Given the description of an element on the screen output the (x, y) to click on. 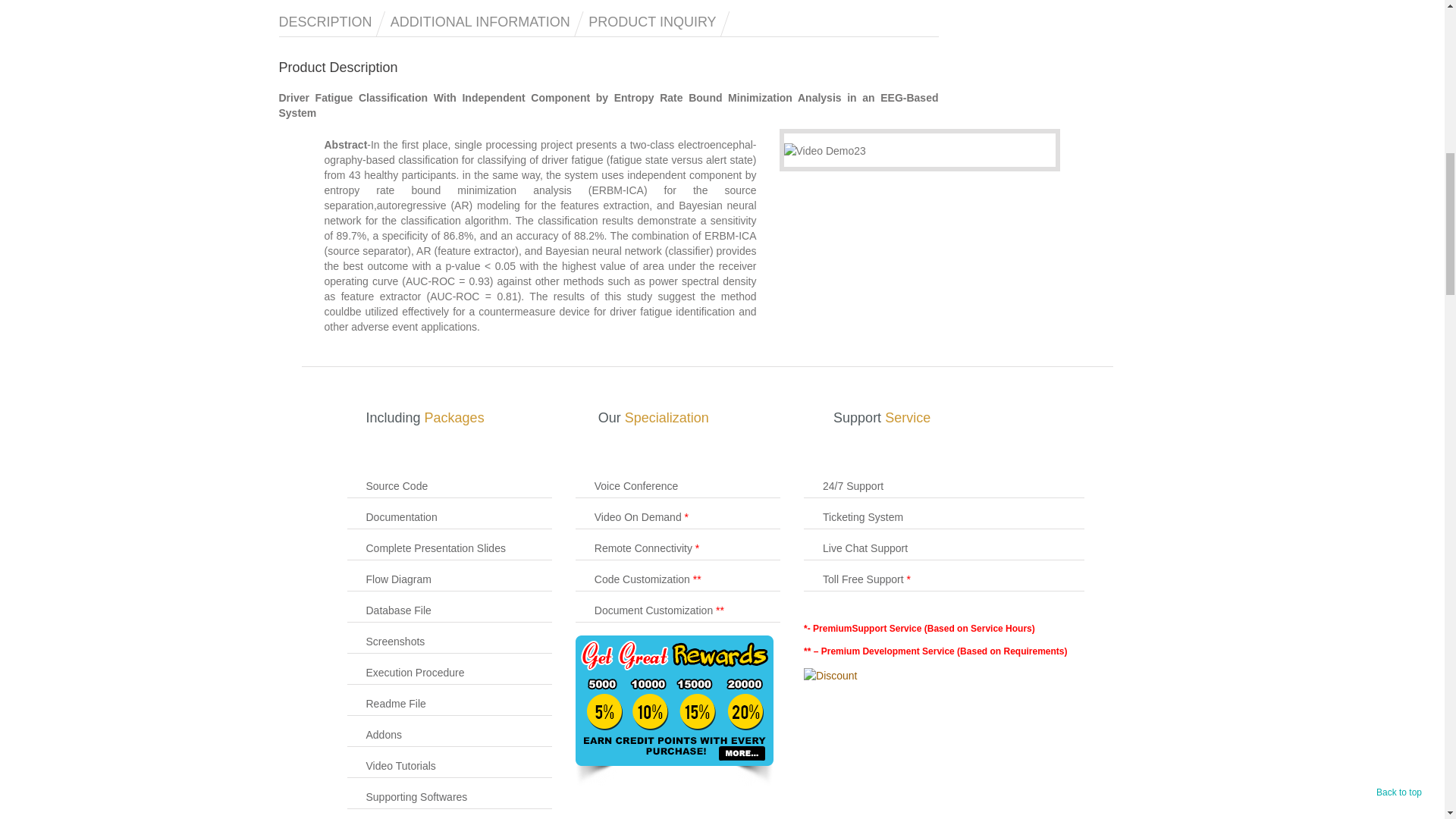
Rewards (674, 711)
Coupon Discount (830, 674)
